Given the description of an element on the screen output the (x, y) to click on. 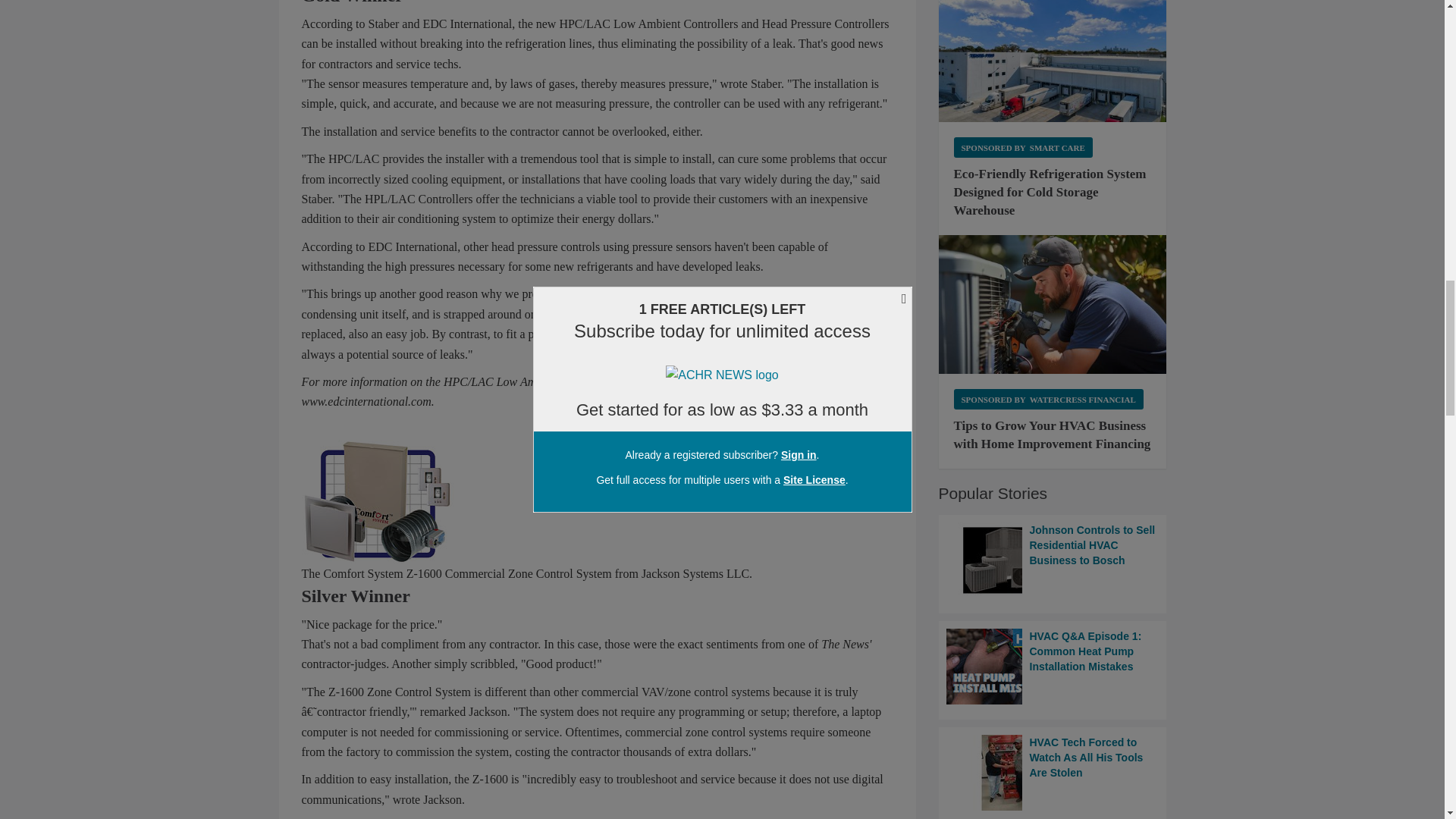
Sponsored by Smart Care (1023, 147)
Technician Working on HVAC Unit (1052, 304)
Johnson Controls to Sell Residential HVAC Business to Bosch (1052, 560)
Sponsored by Watercress Financial (1047, 399)
HVAC Tech Forced to Watch As All His Tools Are Stolen (1052, 772)
Texas Frio Cold Storage (1052, 61)
